Given the description of an element on the screen output the (x, y) to click on. 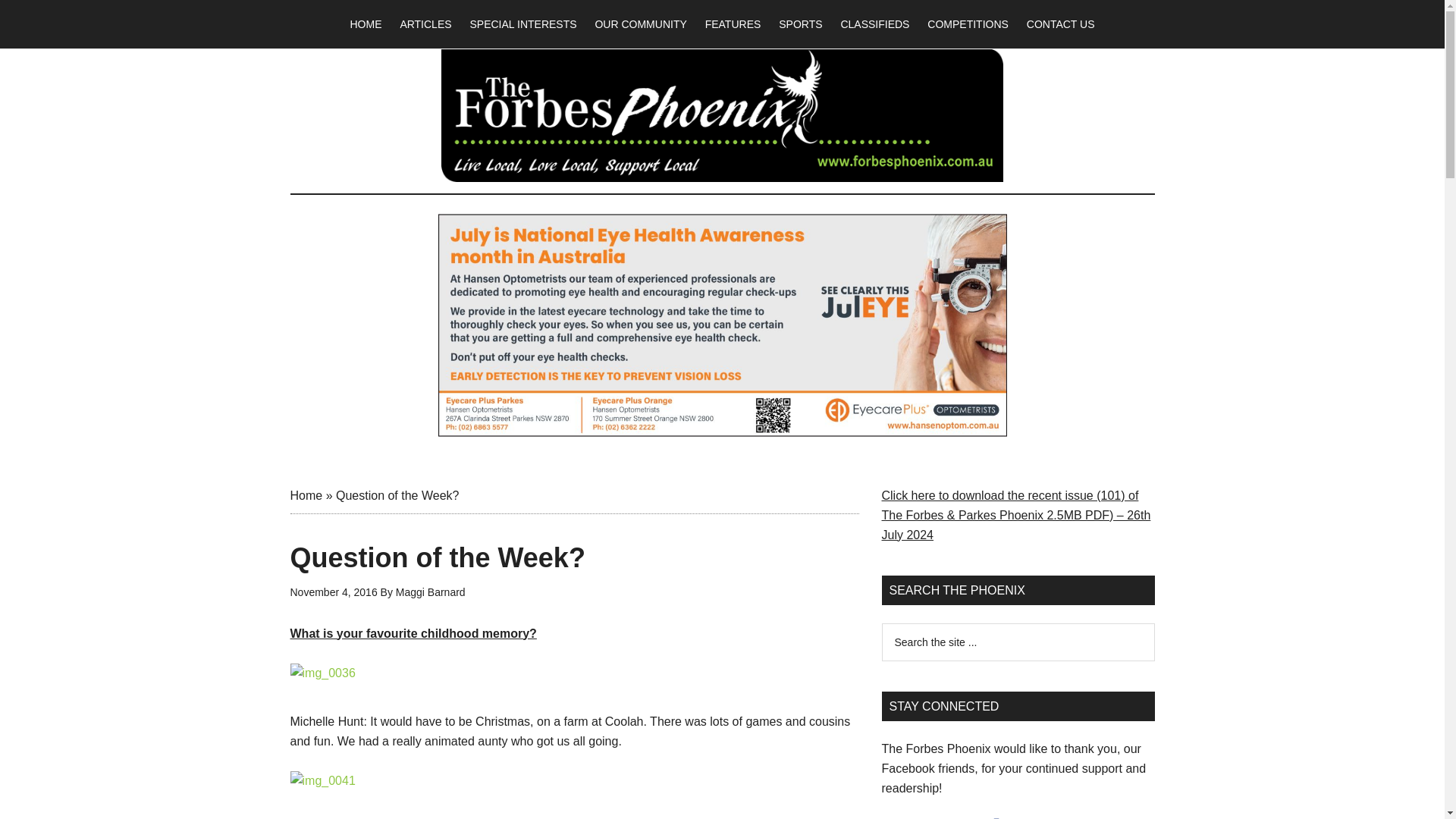
FEATURES (732, 24)
CLASSIFIEDS (874, 24)
OUR COMMUNITY (640, 24)
ARTICLES (424, 24)
HOME (365, 24)
COMPETITIONS (968, 24)
SPORTS (800, 24)
CONTACT US (1060, 24)
SPECIAL INTERESTS (522, 24)
